Given the description of an element on the screen output the (x, y) to click on. 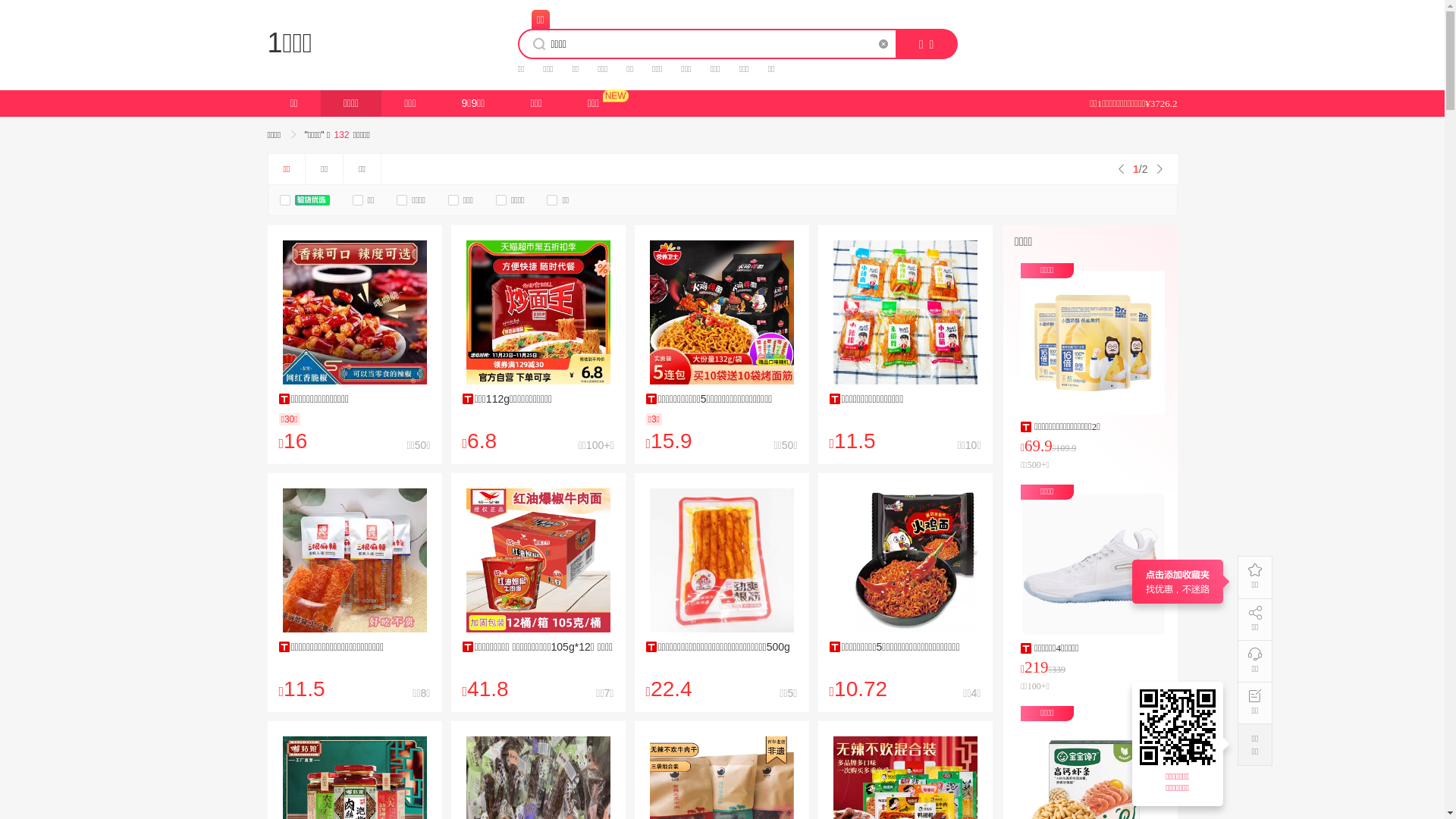
https://www.1fqw.com Element type: hover (1179, 727)
